Given the description of an element on the screen output the (x, y) to click on. 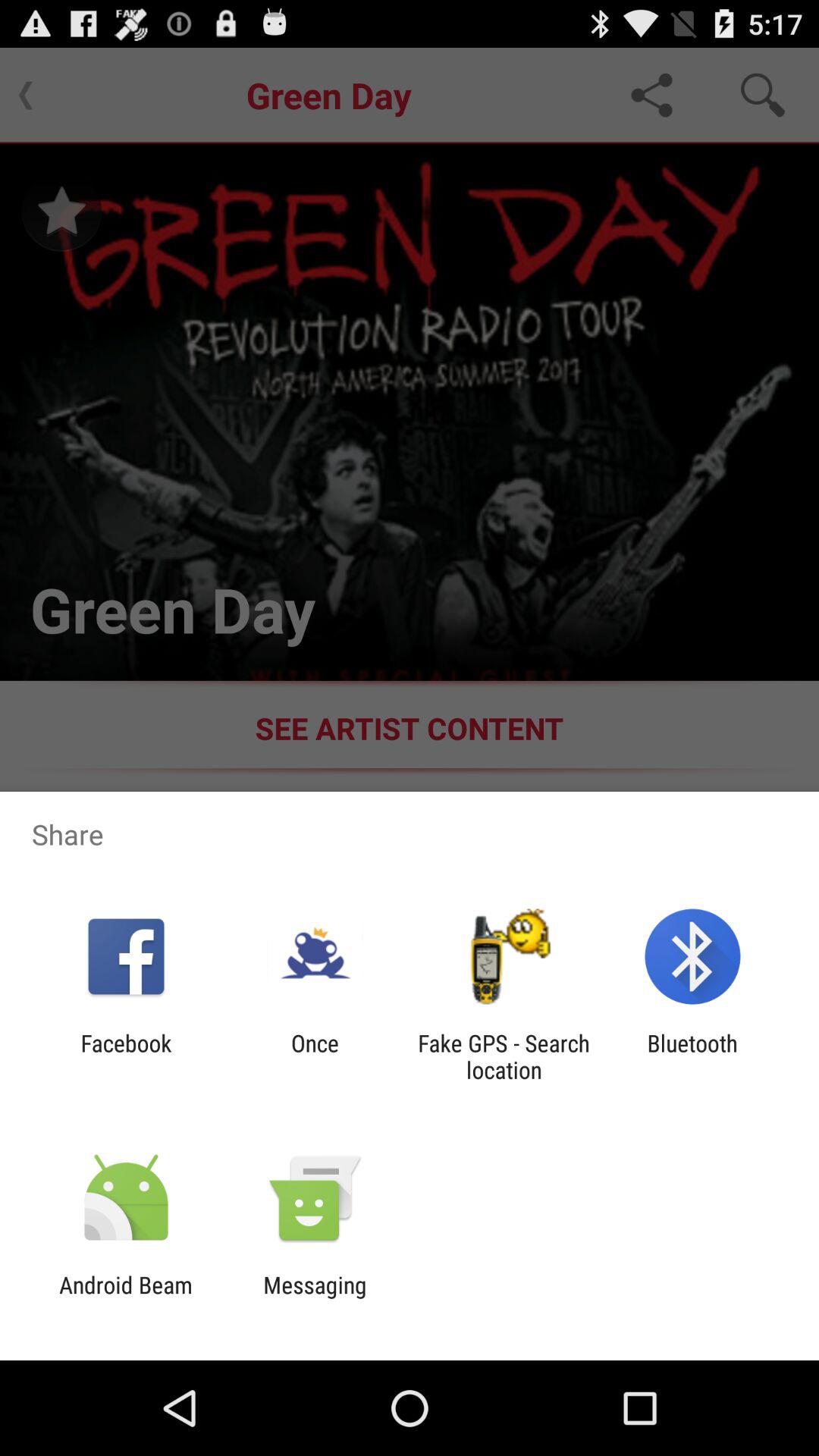
select app next to the bluetooth icon (503, 1056)
